Given the description of an element on the screen output the (x, y) to click on. 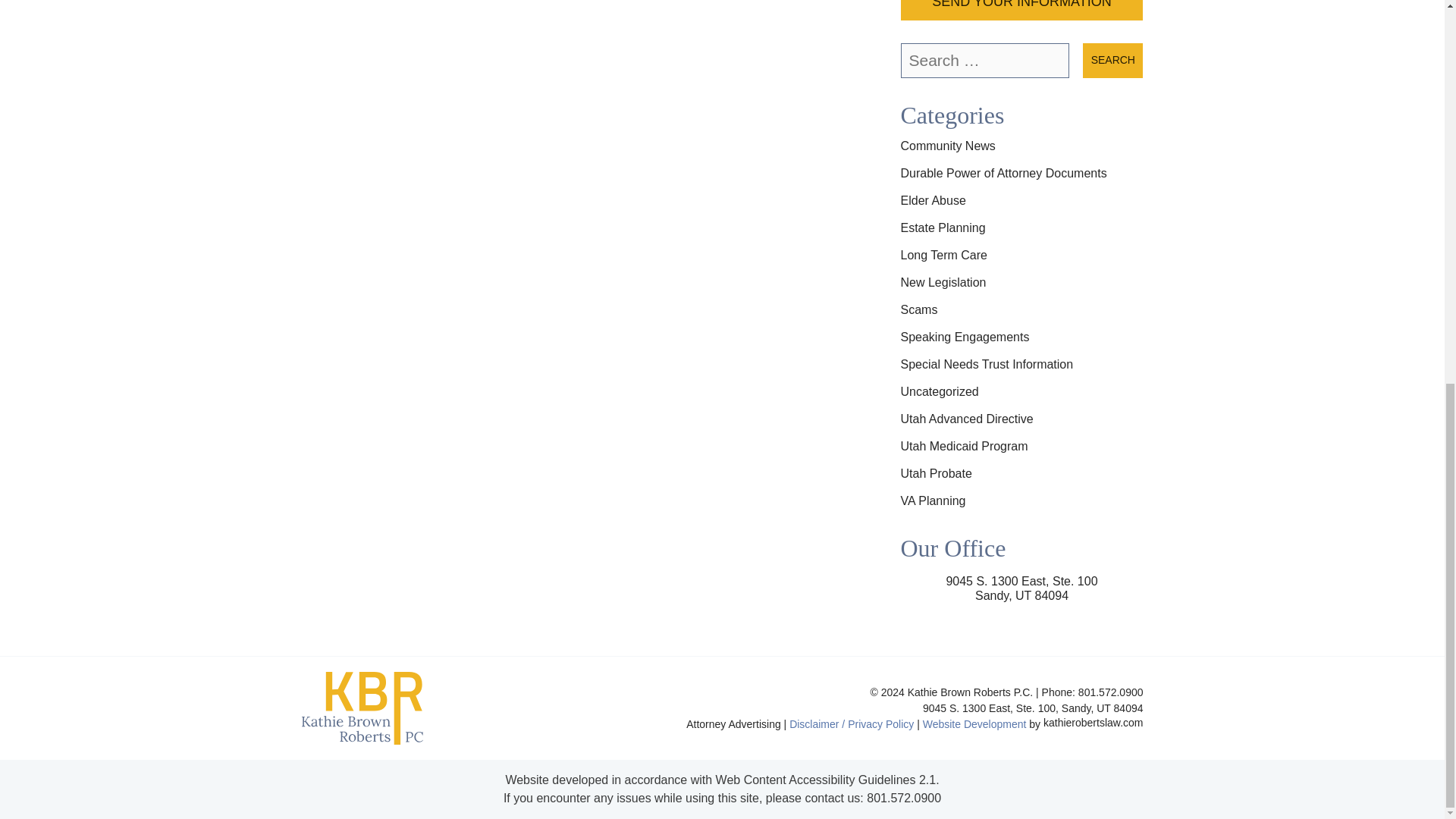
Search for: (985, 60)
Elder Abuse (933, 200)
New Legislation (944, 282)
SEND YOUR INFORMATION (1021, 10)
Search (1112, 60)
Long Term Care (944, 254)
Search (1112, 60)
Scams (919, 309)
Community News (948, 145)
Estate Planning (943, 227)
